Given the description of an element on the screen output the (x, y) to click on. 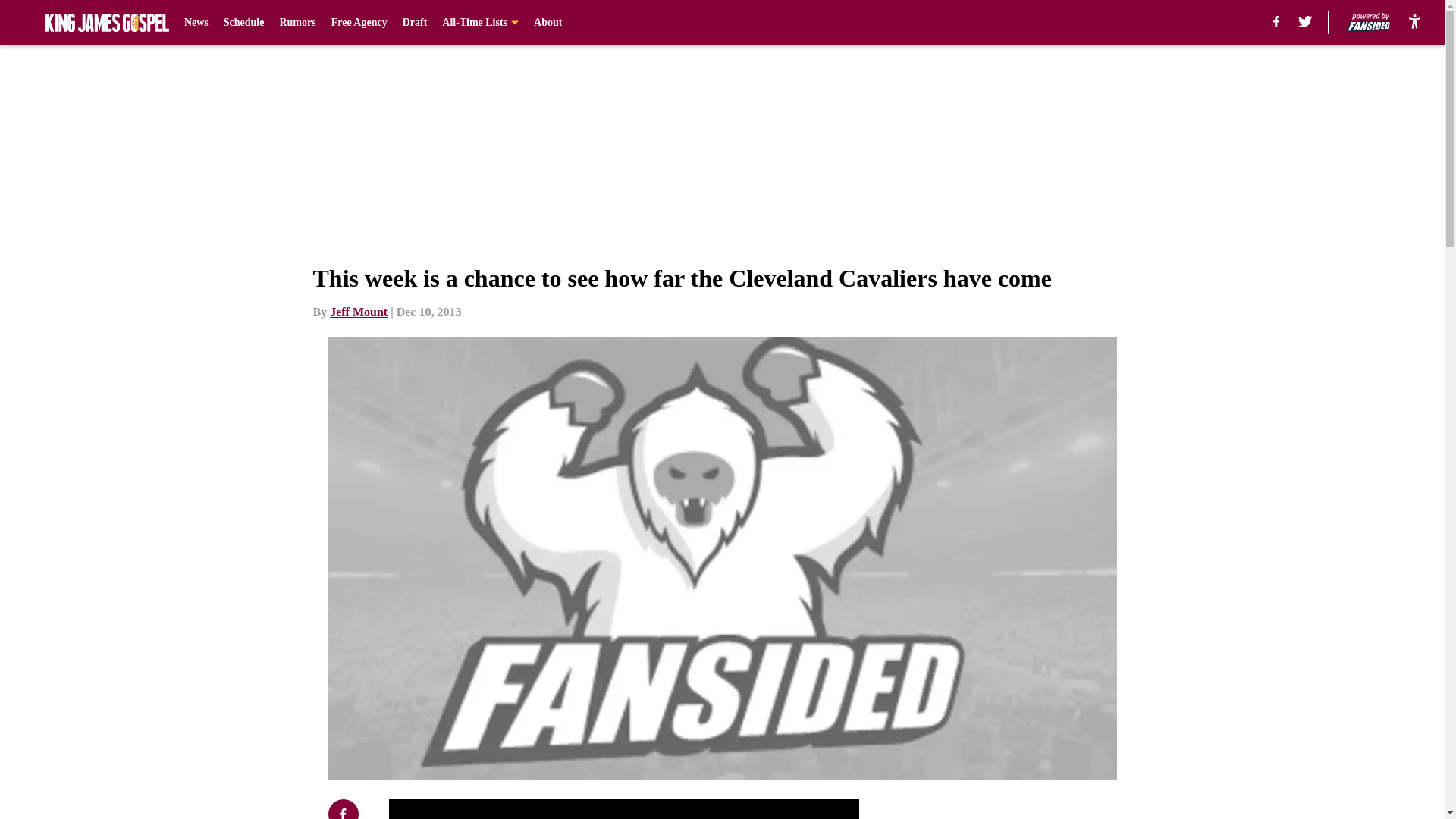
Rumors (297, 22)
Jeff Mount (358, 311)
All-Time Lists (480, 22)
Free Agency (359, 22)
Schedule (244, 22)
Draft (415, 22)
About (548, 22)
News (196, 22)
